Given the description of an element on the screen output the (x, y) to click on. 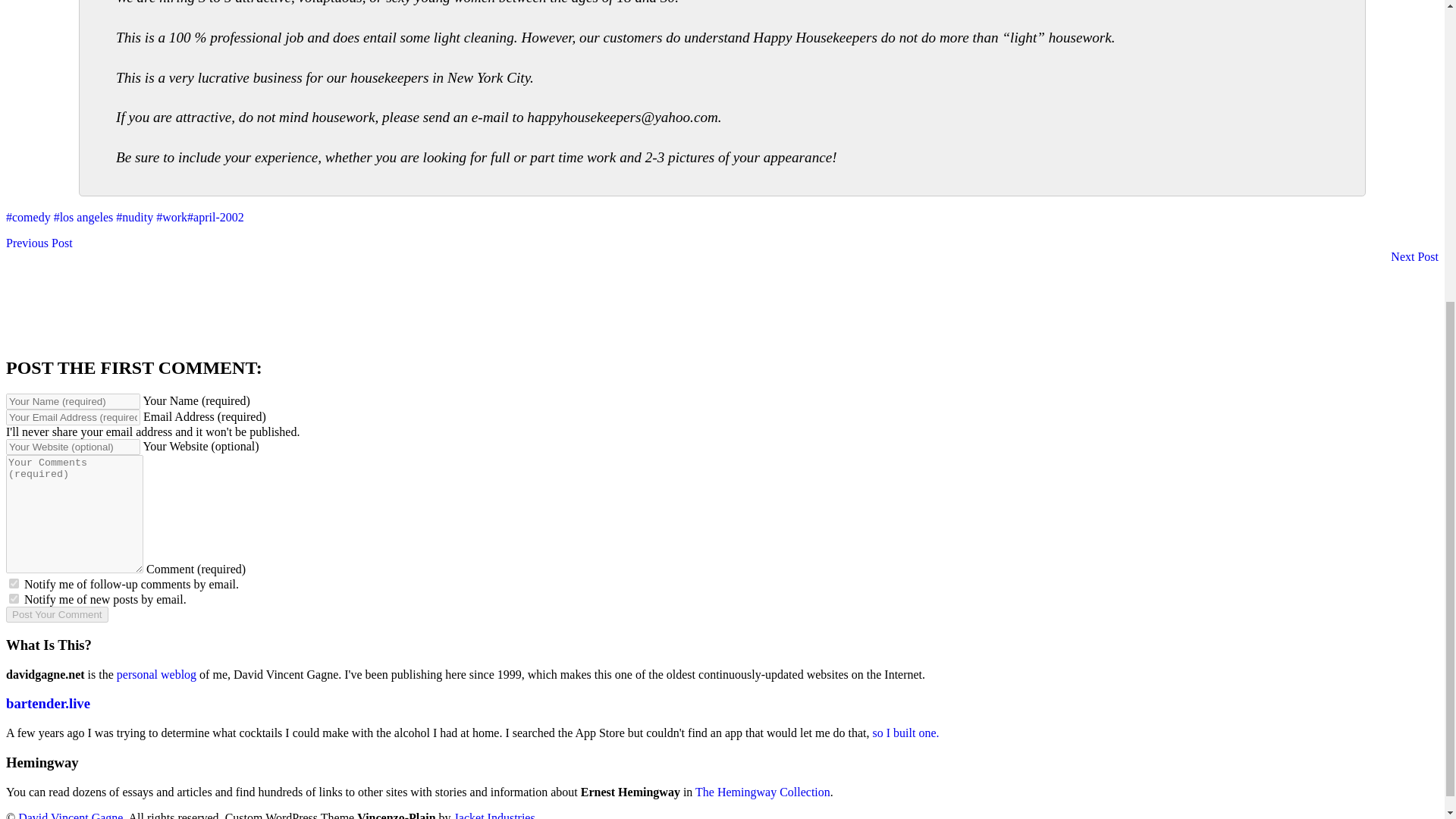
Post Your Comment (56, 614)
142 posts (83, 216)
The Hemingway Collection (762, 791)
more posts from April 2002 (215, 216)
All About Me (38, 242)
personal weblog (156, 674)
4 posts (156, 674)
95 posts (134, 216)
subscribe (171, 216)
so I built one. (13, 598)
378 posts (905, 732)
subscribe (27, 216)
bartender.live (13, 583)
